Given the description of an element on the screen output the (x, y) to click on. 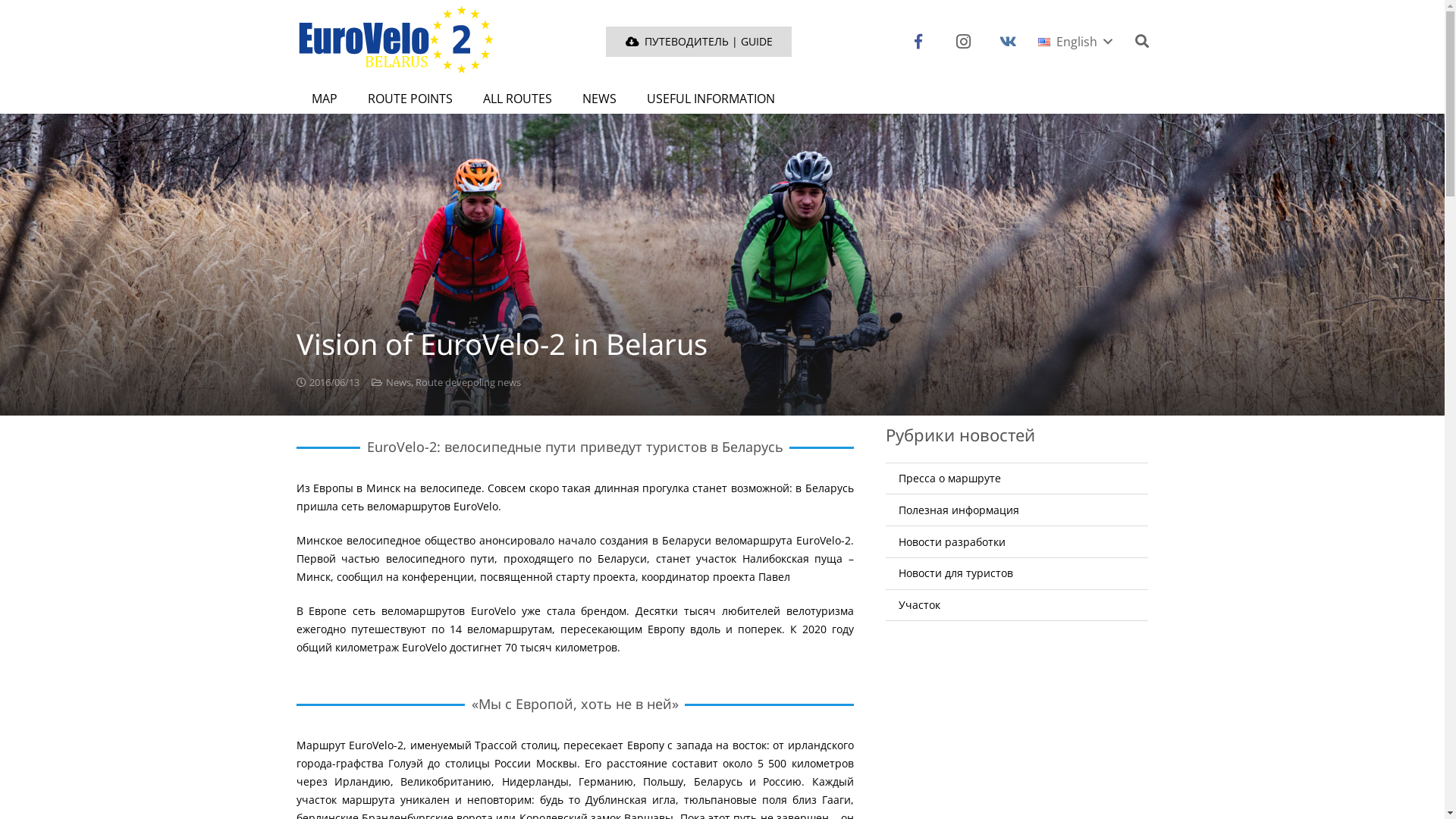
ALL ROUTES Element type: text (516, 98)
Vkontakte Element type: hover (1008, 41)
Facebook Element type: hover (918, 41)
Instagram Element type: hover (962, 41)
NEWS Element type: text (599, 98)
News Element type: text (398, 382)
Search Element type: hover (1141, 41)
ROUTE POINTS Element type: text (409, 98)
English Element type: text (1074, 41)
USEFUL INFORMATION Element type: text (709, 98)
MAP Element type: text (323, 98)
Route devepoling news Element type: text (467, 382)
